Given the description of an element on the screen output the (x, y) to click on. 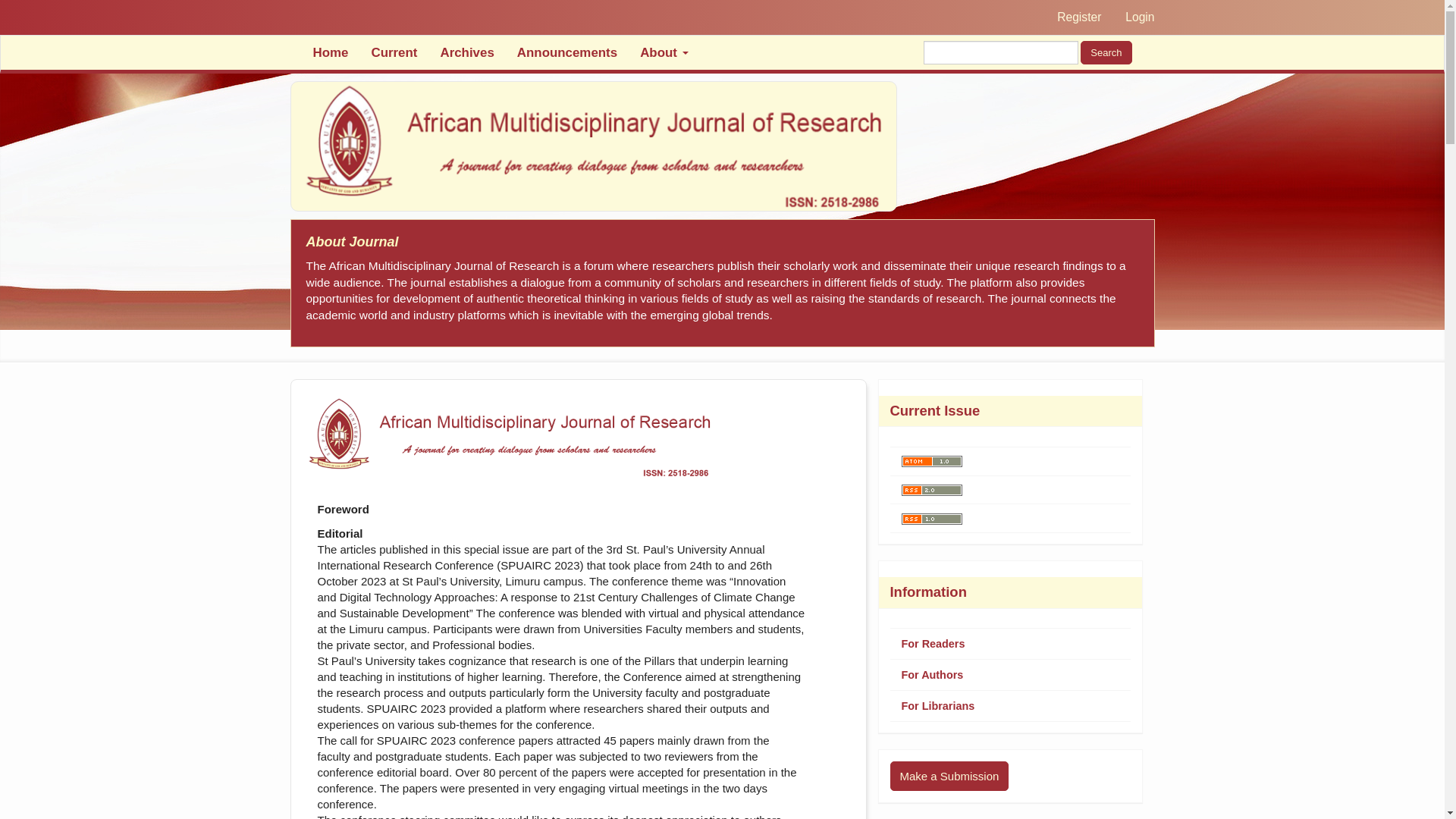
Register (1078, 17)
Login (1139, 17)
About (663, 52)
Announcements (566, 52)
Current (393, 52)
Archives (466, 52)
Home (330, 52)
Search (1105, 52)
